Given the description of an element on the screen output the (x, y) to click on. 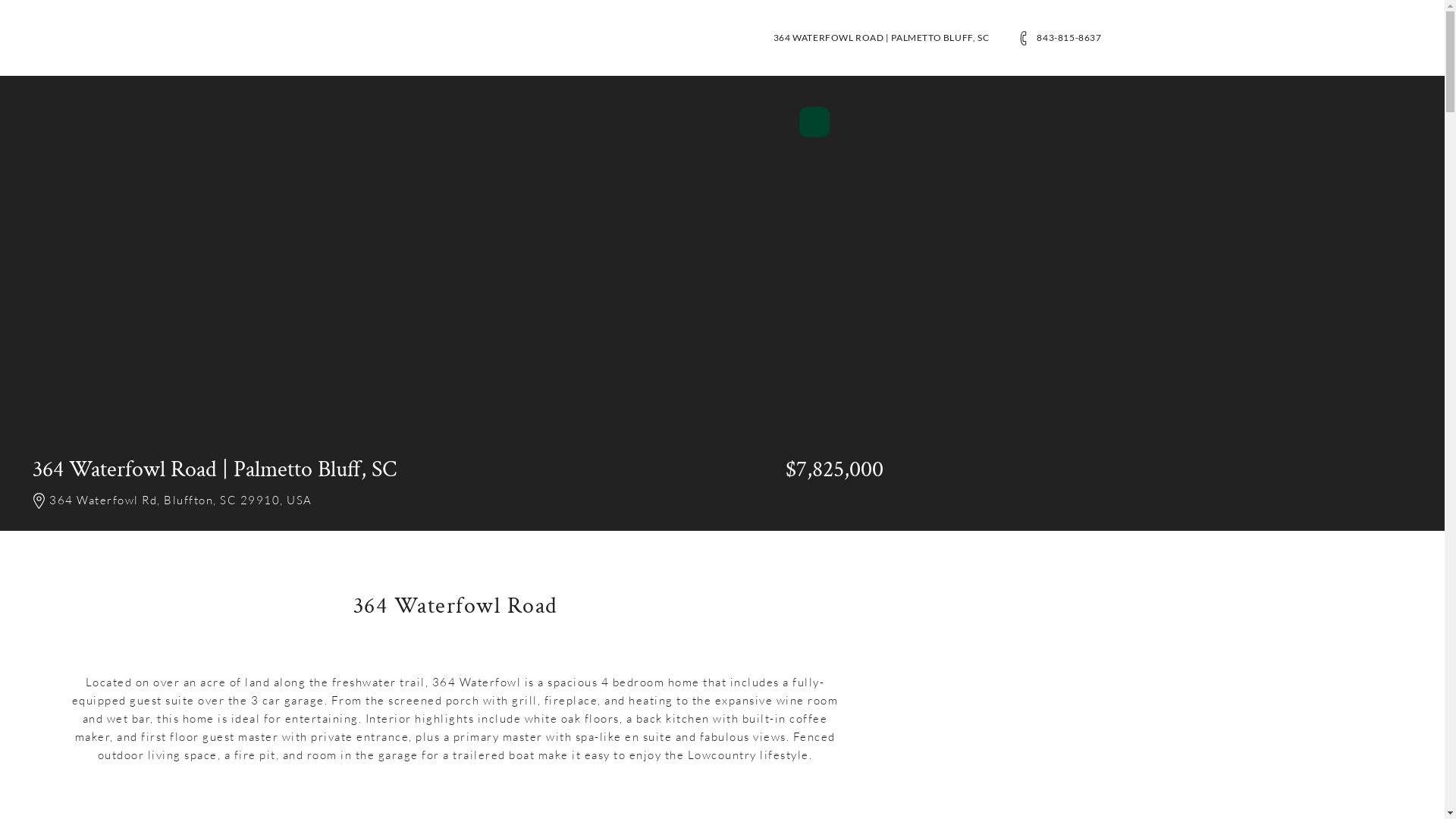
364 Waterfowl Rd, Bluffton, SC 29910, USA Element type: text (188, 501)
843-815-8637 Element type: text (1069, 37)
